Given the description of an element on the screen output the (x, y) to click on. 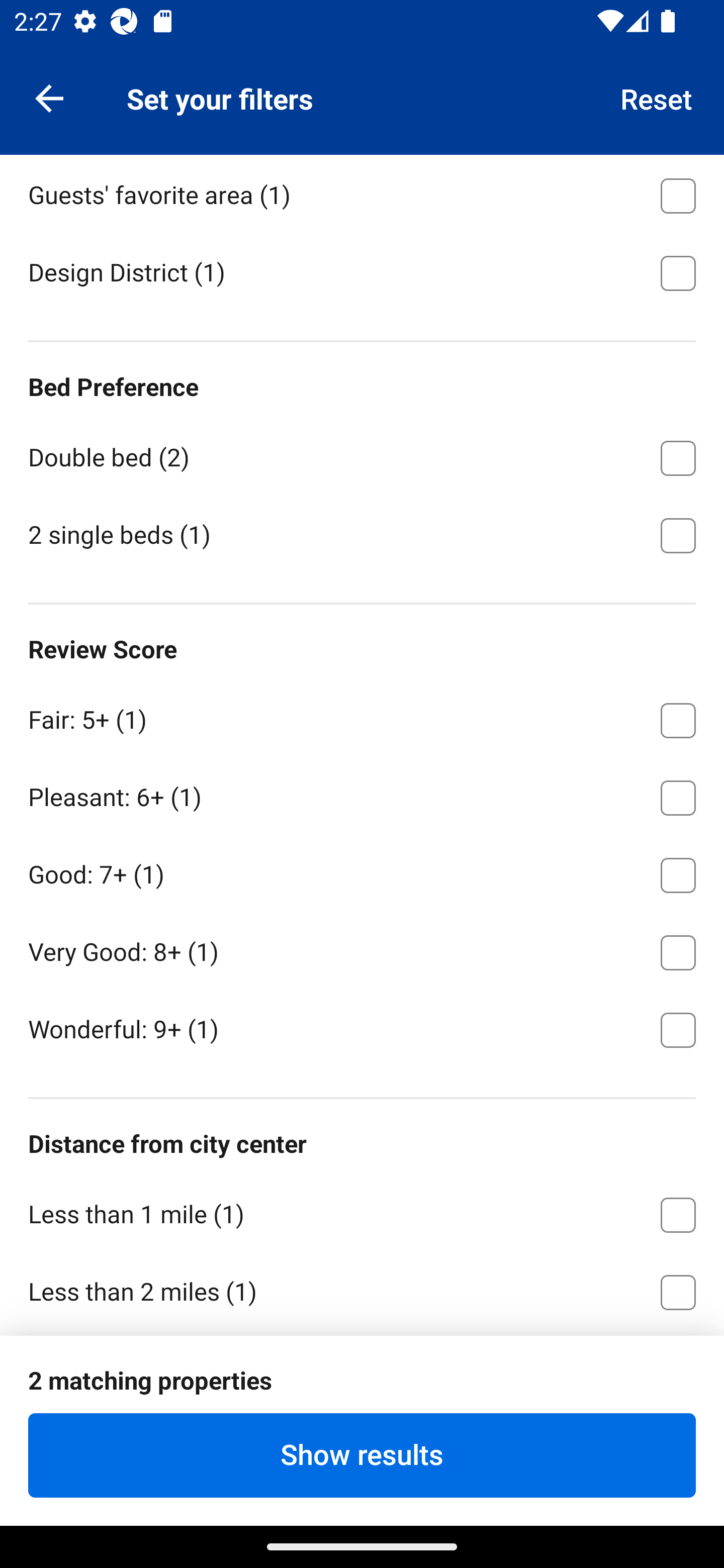
Navigate up (49, 97)
Reset (656, 97)
Brickell ⁦(1) (361, 114)
Guests' favorite area ⁦(1) (361, 192)
Design District ⁦(1) (361, 271)
Double bed ⁦(2) (361, 454)
2 single beds ⁦(1) (361, 533)
Fair: 5+ ⁦(1) (361, 716)
Pleasant: 6+ ⁦(1) (361, 793)
Good: 7+ ⁦(1) (361, 871)
Very Good: 8+ ⁦(1) (361, 949)
Wonderful: 9+ ⁦(1) (361, 1028)
Less than 1 mile ⁦(1) (361, 1210)
Less than 2 miles ⁦(1) (361, 1290)
Show results (361, 1454)
